Given the description of an element on the screen output the (x, y) to click on. 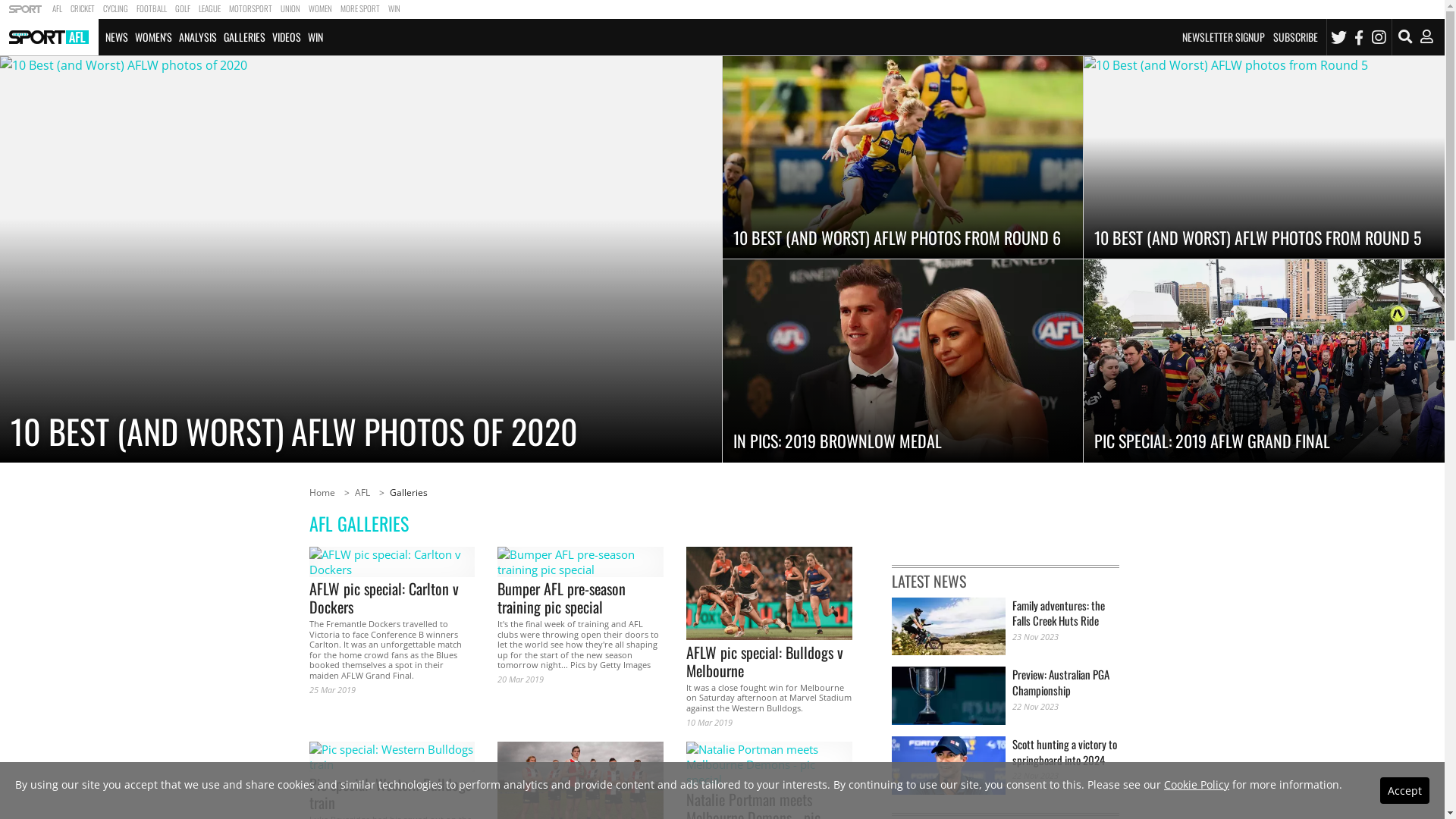
10 BEST (AND WORST) AFLW PHOTOS FROM ROUND 6 Element type: text (901, 157)
WOMEN Element type: text (319, 9)
  Element type: text (25, 9)
WOMEN'S Element type: text (153, 36)
MORE SPORT Element type: text (359, 9)
Scott hunting a victory to springboard into 2024
22 Nov 2023 Element type: text (1005, 765)
Home Element type: text (322, 492)
AFL Element type: text (56, 9)
PIC SPECIAL: 2019 AFLW GRAND FINAL Element type: text (1263, 360)
Follow on Twitter Element type: hover (1339, 36)
FOOTBALL Element type: text (150, 9)
Accept Element type: text (1404, 790)
WIN Element type: text (393, 9)
UNION Element type: text (290, 9)
Cookie Policy Element type: text (1196, 784)
Galleries Element type: text (408, 492)
GOLF Element type: text (182, 9)
10 BEST (AND WORST) AFLW PHOTOS OF 2020 Element type: text (361, 259)
Family adventures: the Falls Creek Huts Ride
23 Nov 2023 Element type: text (1005, 626)
LEAGUE Element type: text (209, 9)
SUBSCRIBE Element type: text (1294, 36)
IN PICS: 2019 BROWNLOW MEDAL Element type: text (901, 360)
WIN Element type: text (315, 36)
ANALYSIS Element type: text (197, 36)
  Element type: text (49, 36)
CRICKET Element type: text (81, 9)
AFL Element type: text (362, 492)
NEWS Element type: text (116, 36)
MOTORSPORT Element type: text (250, 9)
Like on Facebook Element type: hover (1358, 36)
GALLERIES Element type: text (243, 36)
Follow on Instagram Element type: hover (1378, 36)
VIDEOS Element type: text (286, 36)
NEWSLETTER SIGNUP Element type: text (1223, 36)
CYCLING Element type: text (114, 9)
10 BEST (AND WORST) AFLW PHOTOS FROM ROUND 5 Element type: text (1263, 157)
Preview: Australian PGA Championship
22 Nov 2023 Element type: text (1005, 695)
